Given the description of an element on the screen output the (x, y) to click on. 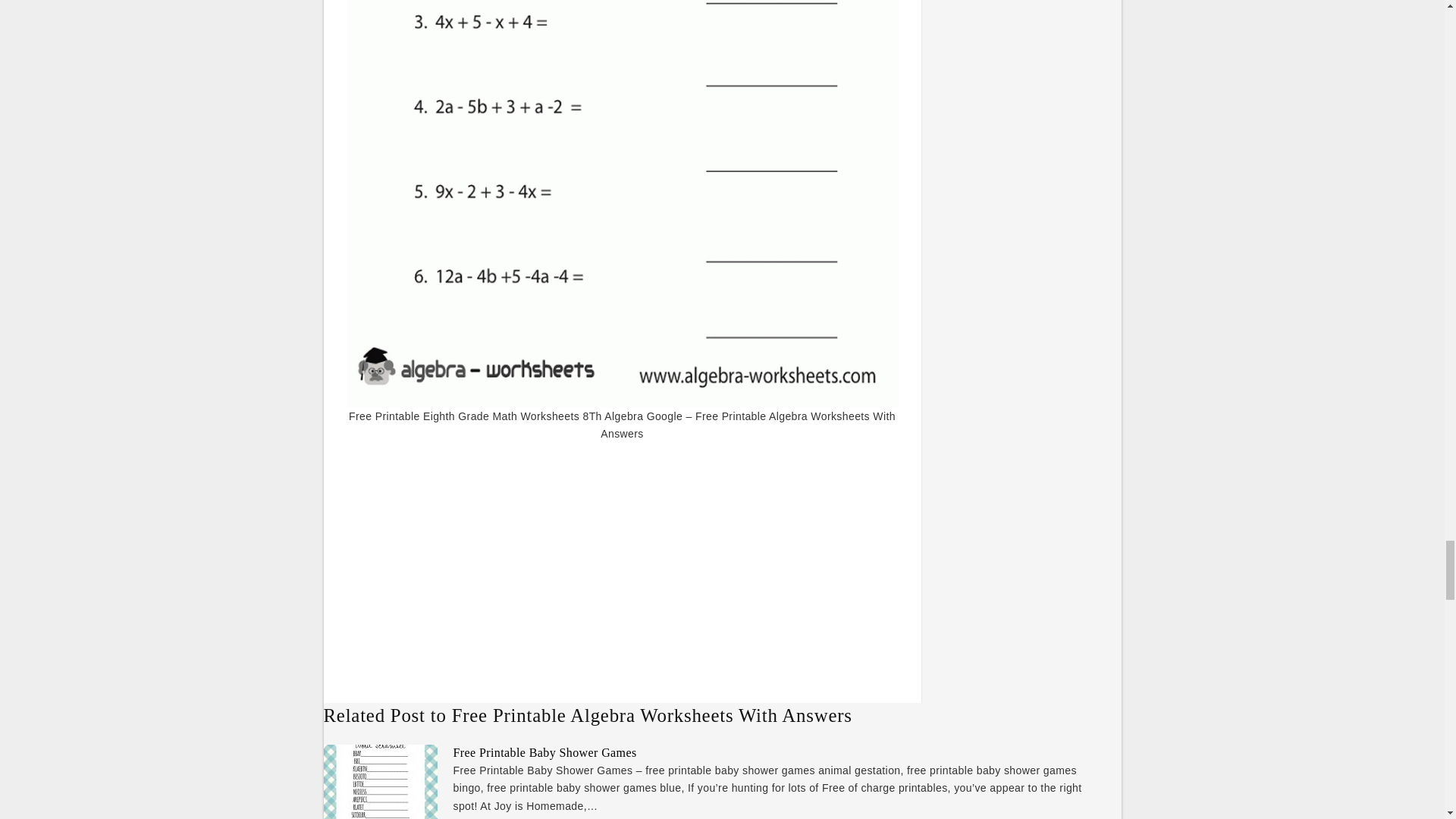
Free Printable Baby Shower Games (544, 752)
Free Printable Baby Shower Games (544, 752)
